Given the description of an element on the screen output the (x, y) to click on. 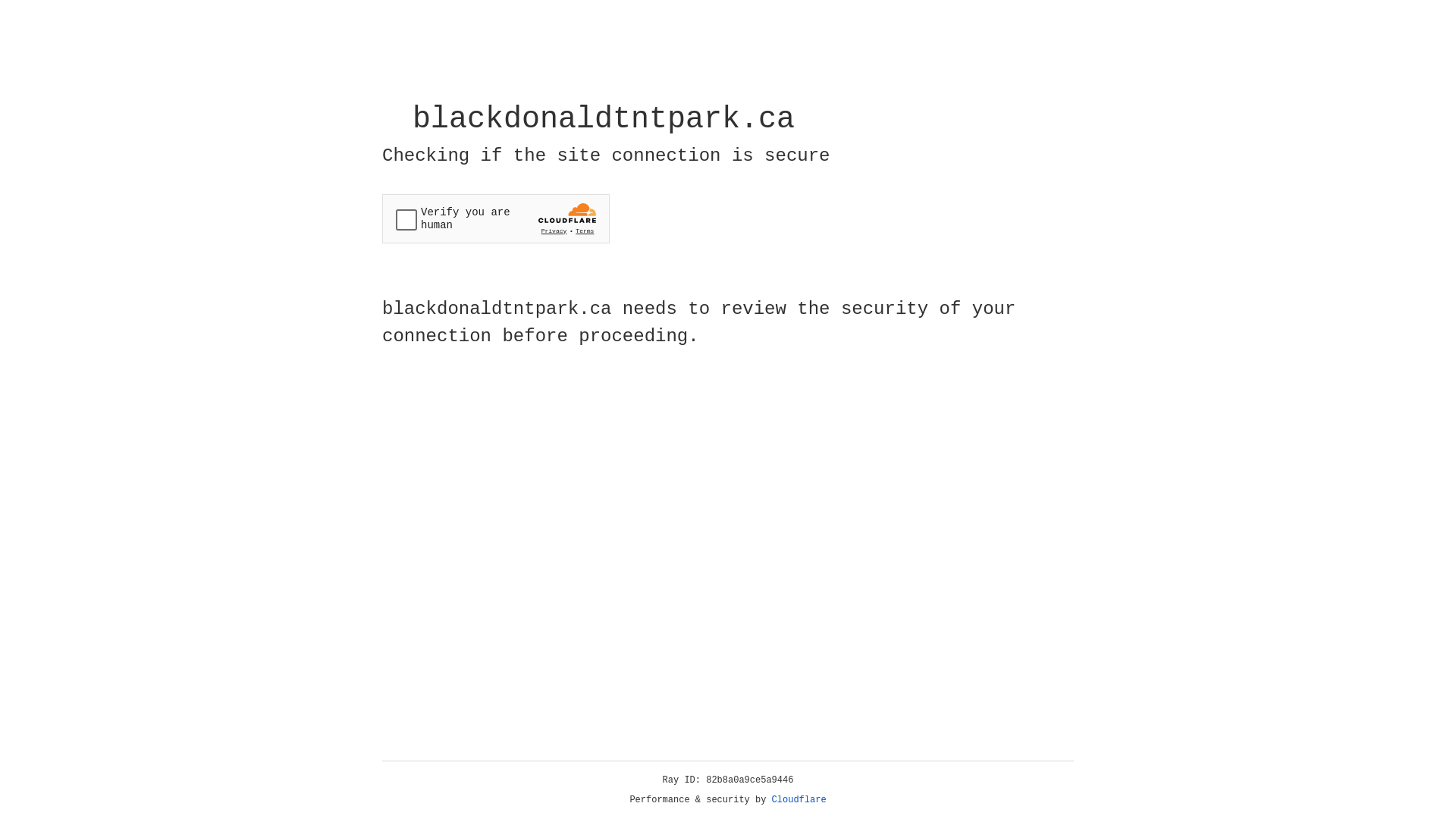
Widget containing a Cloudflare security challenge Element type: hover (495, 218)
Cloudflare Element type: text (798, 799)
